Given the description of an element on the screen output the (x, y) to click on. 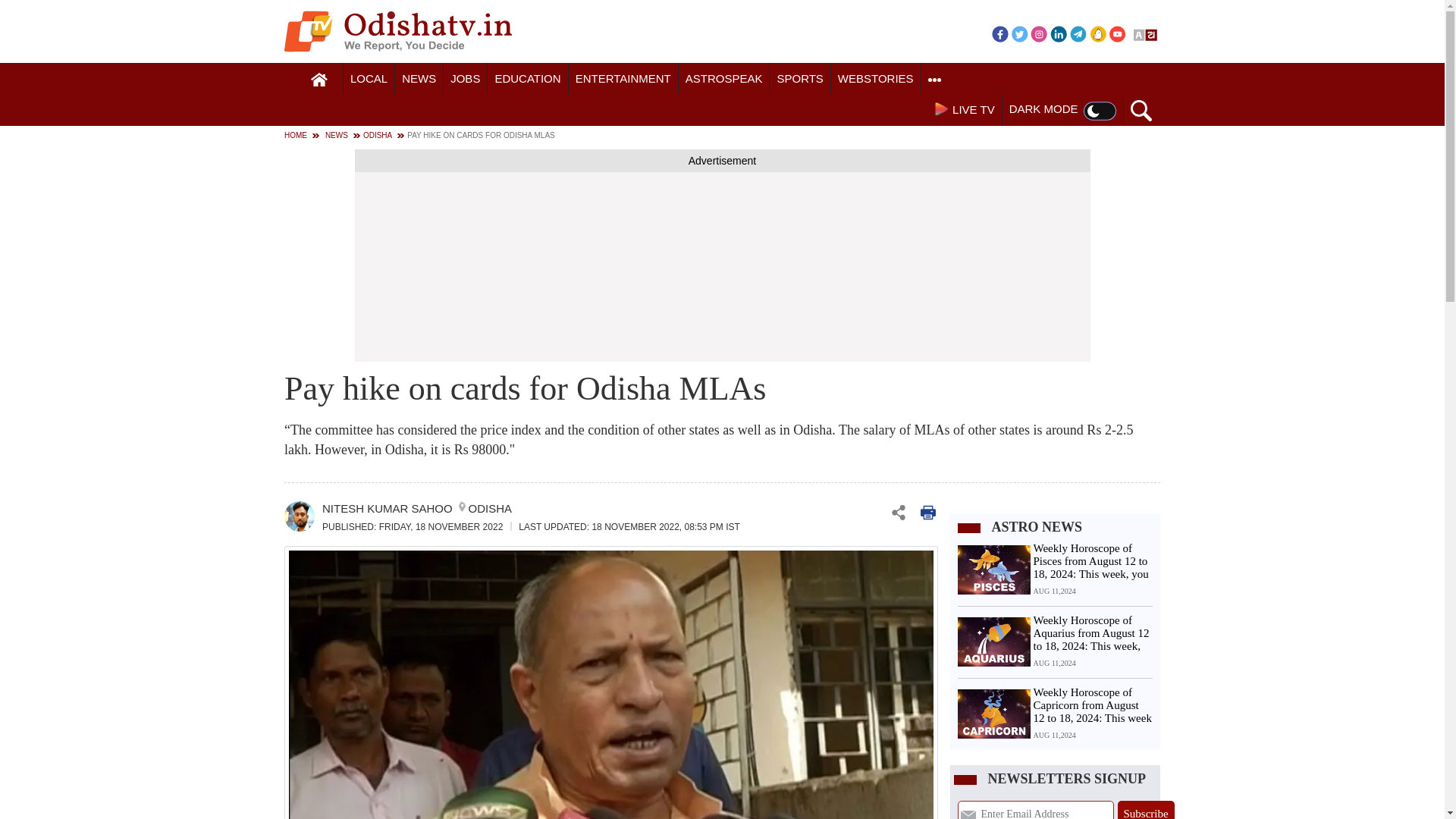
LOCAL (368, 78)
Odisha (368, 78)
Facebook (1000, 33)
News (418, 78)
ENTERTAINMENT (623, 78)
Home Icon (319, 79)
EDUCATION (527, 78)
OdishaTV (397, 31)
JOBS (465, 78)
Instagram (1038, 33)
